Given the description of an element on the screen output the (x, y) to click on. 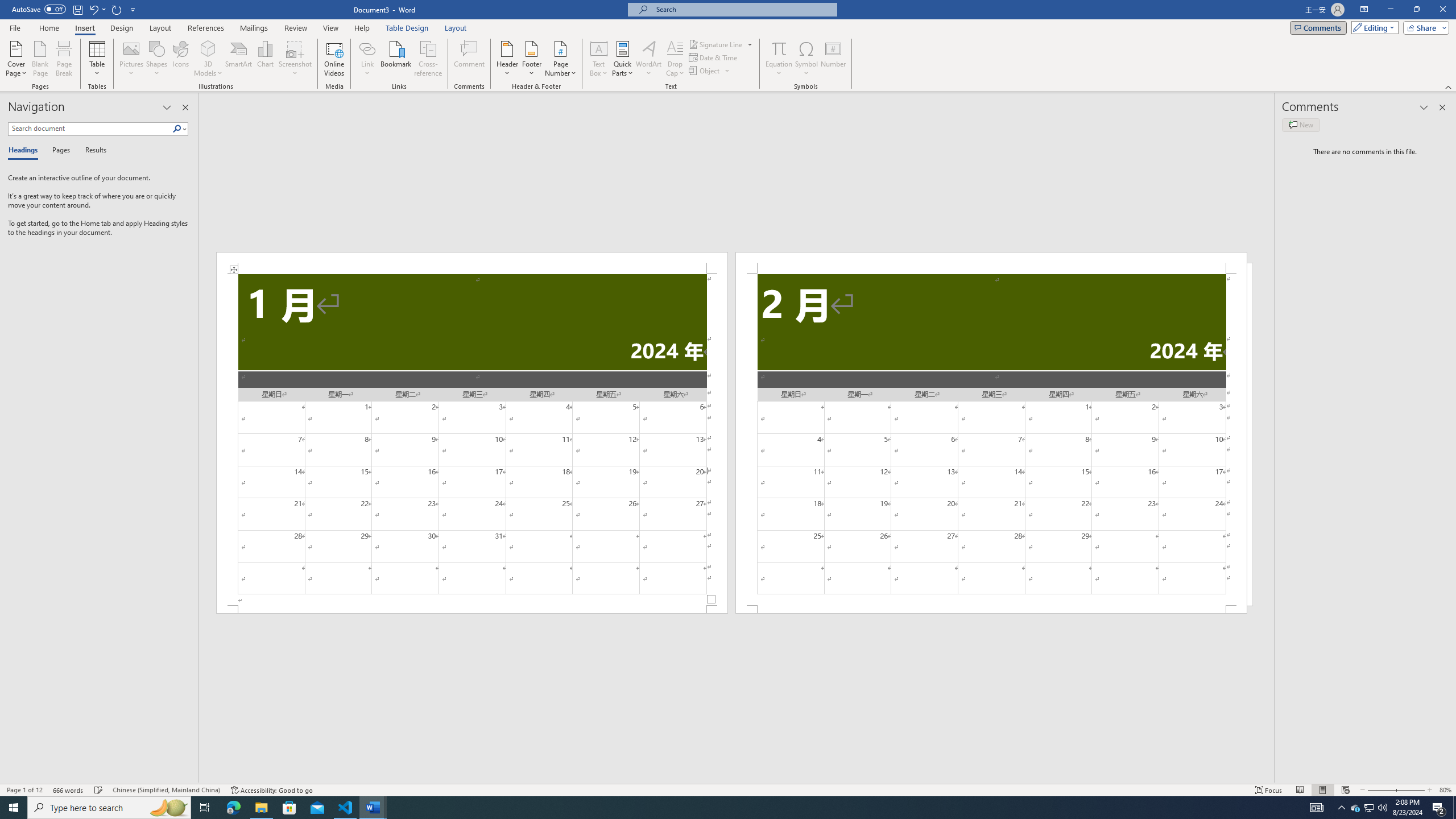
Save (77, 9)
Undo Increase Indent (96, 9)
Drop Cap (674, 58)
Repeat Doc Close (117, 9)
Signature Line (721, 44)
Header -Section 1- (471, 263)
Header (507, 58)
Headings (25, 150)
Quick Parts (622, 58)
Blank Page (40, 58)
Microsoft search (742, 9)
Read Mode (1299, 790)
Language Chinese (Simplified, Mainland China) (165, 790)
